Given the description of an element on the screen output the (x, y) to click on. 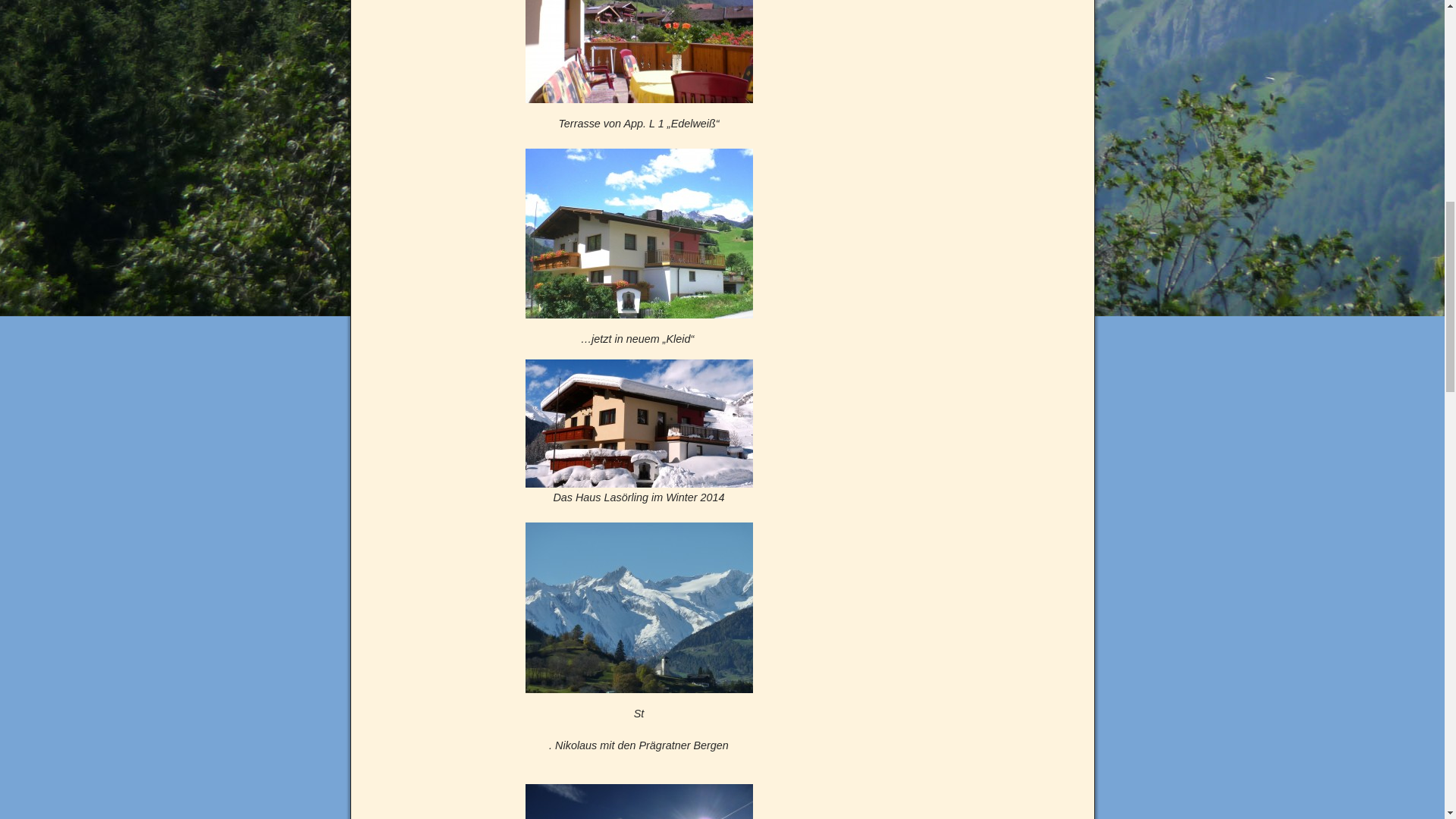
St. Nikolaus  (638, 607)
Schitourenzeit (638, 801)
